Given the description of an element on the screen output the (x, y) to click on. 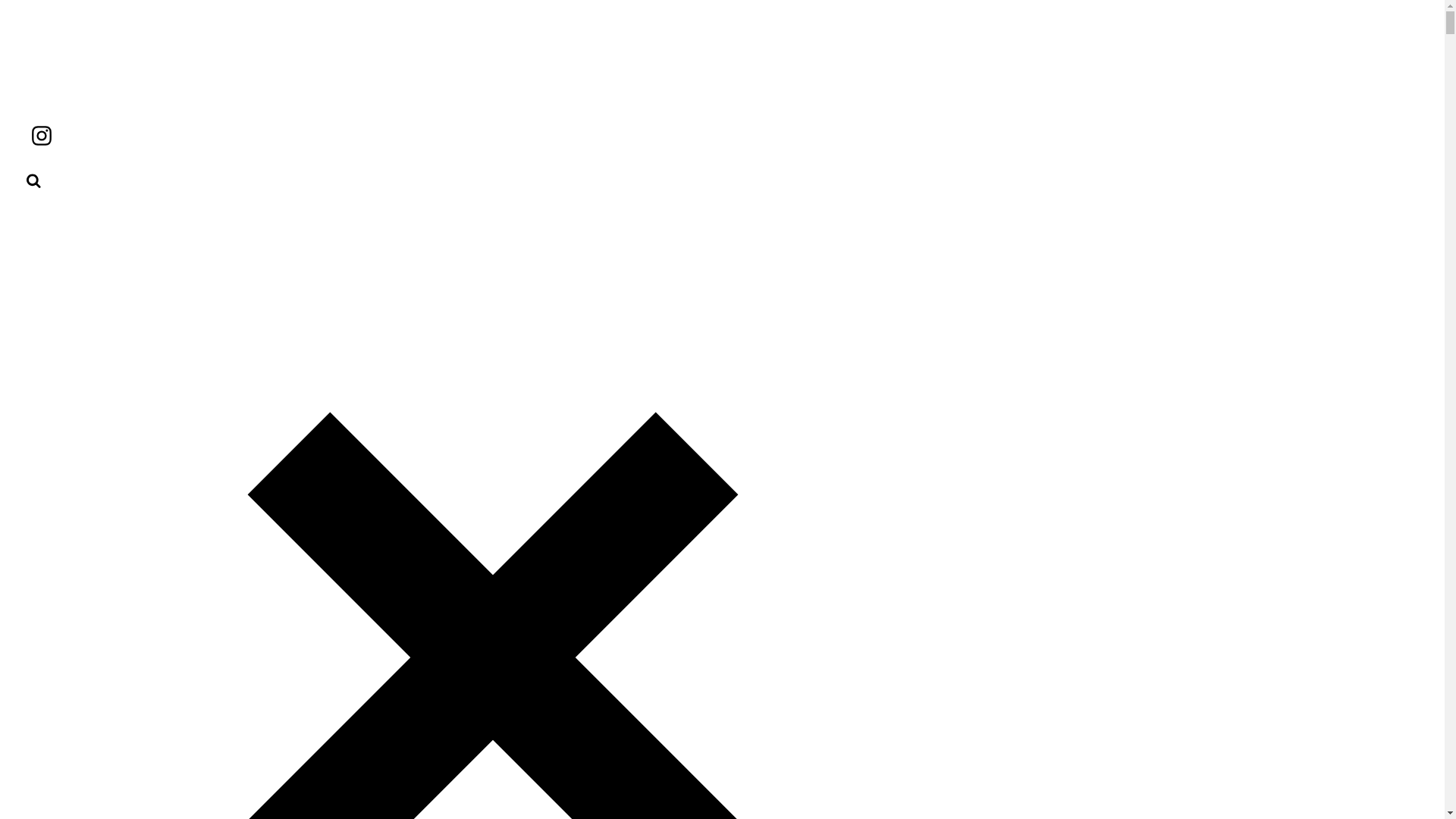
Reduce Your Pain | Improve Your Function Element type: hover (155, 64)
